Given the description of an element on the screen output the (x, y) to click on. 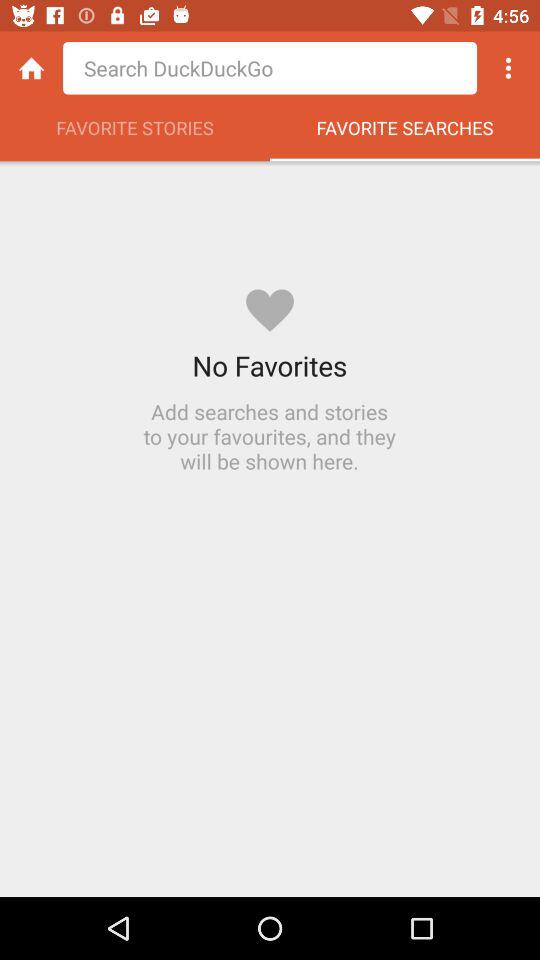
tap the favorite stories (135, 133)
